Given the description of an element on the screen output the (x, y) to click on. 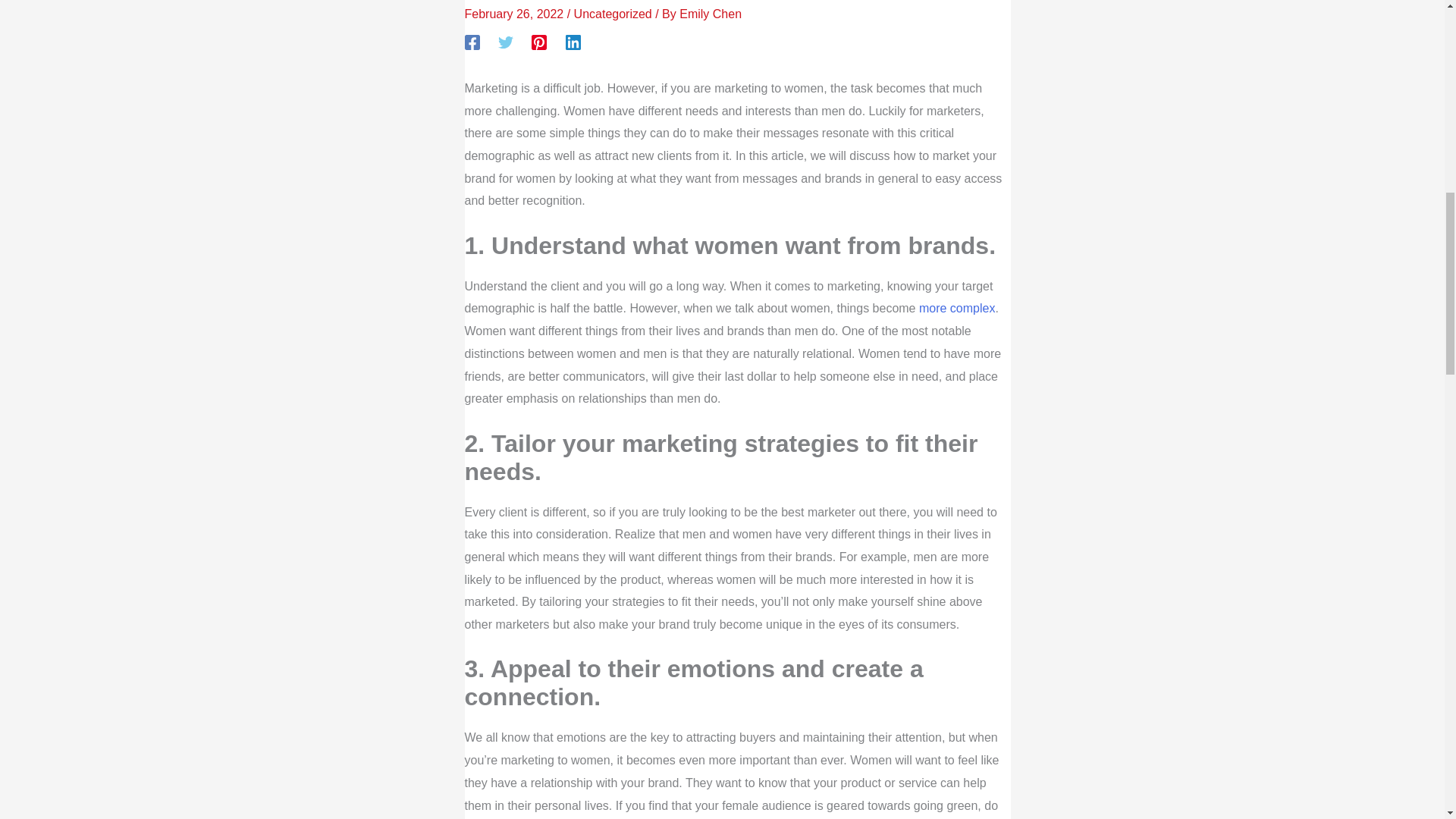
more complex (956, 308)
View all posts by Emily Chen (710, 13)
Emily Chen (710, 13)
Uncategorized (612, 13)
